Given the description of an element on the screen output the (x, y) to click on. 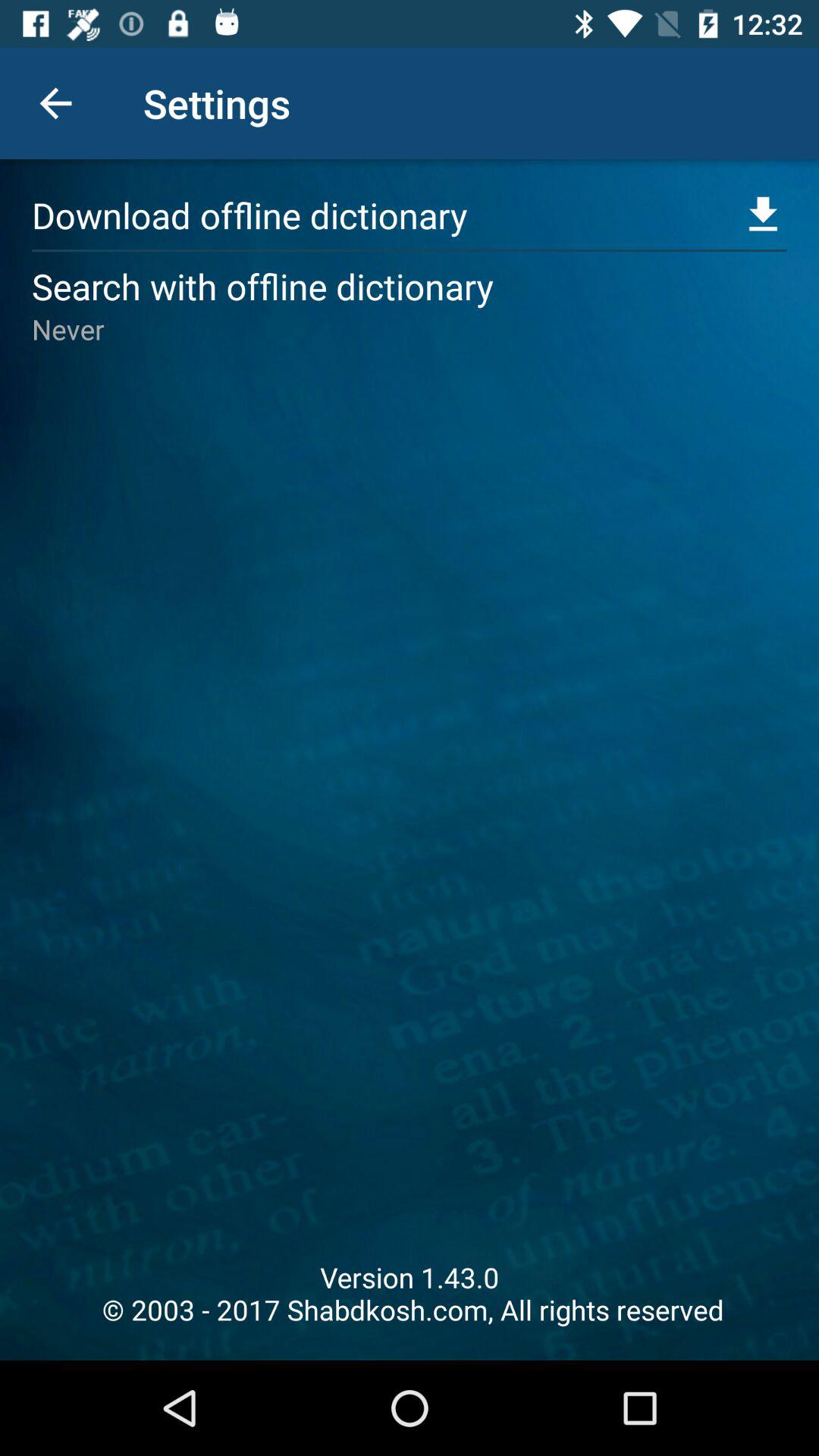
download (763, 214)
